Given the description of an element on the screen output the (x, y) to click on. 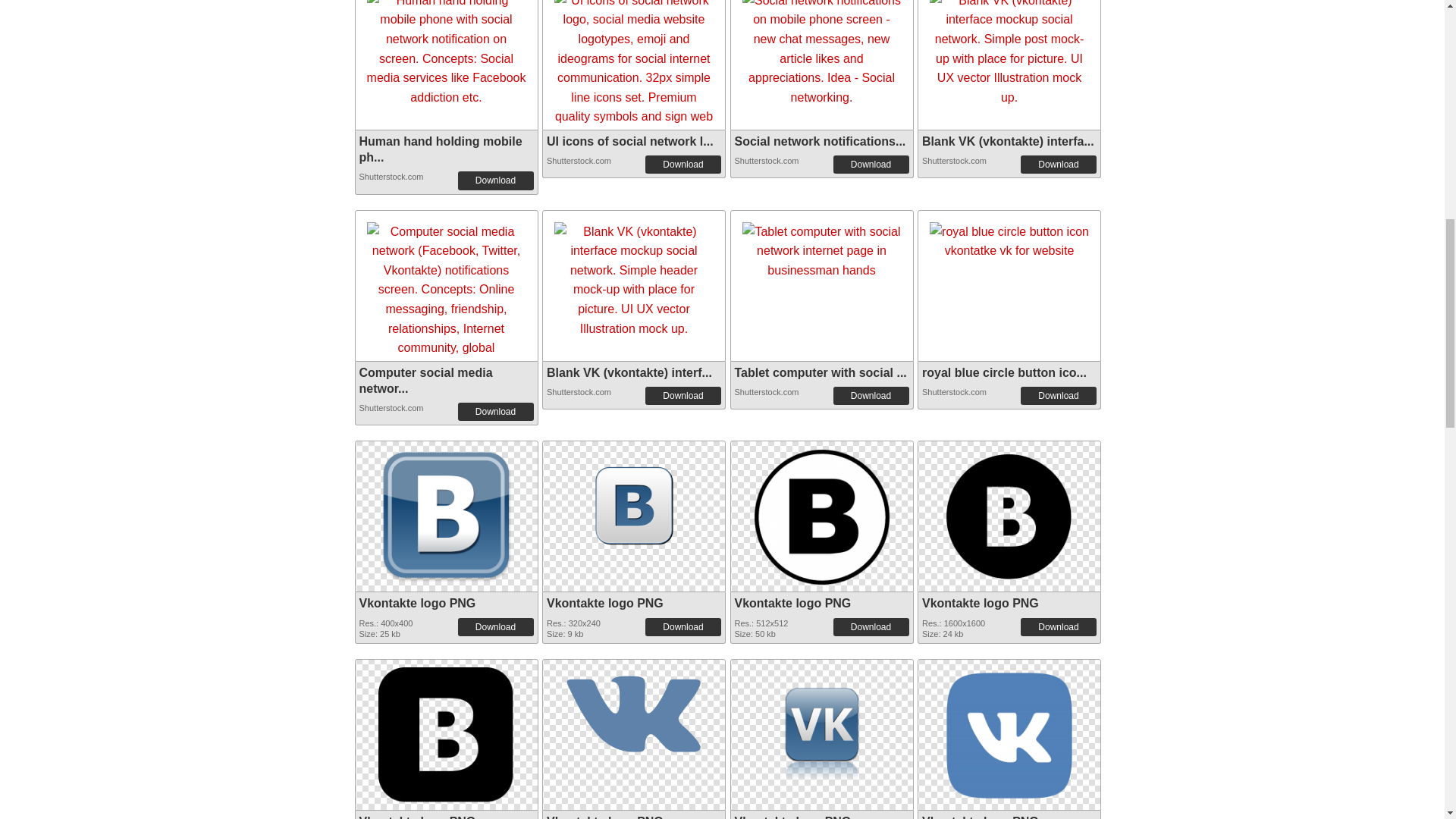
Vkontakte logo PNG (633, 705)
Social network notifications... (819, 141)
Computer social media networ... (426, 380)
Vkontakte logo PNG (445, 731)
Download (1058, 395)
Vkontakte logo PNG (445, 730)
Vkontakte logo PNG (821, 513)
Download (870, 164)
Vkontakte logo PNG (445, 513)
royal blue circle button icon vkontatke vk for website (1009, 241)
UI icons of social network l... (630, 141)
Download (682, 395)
Download (496, 180)
